Given the description of an element on the screen output the (x, y) to click on. 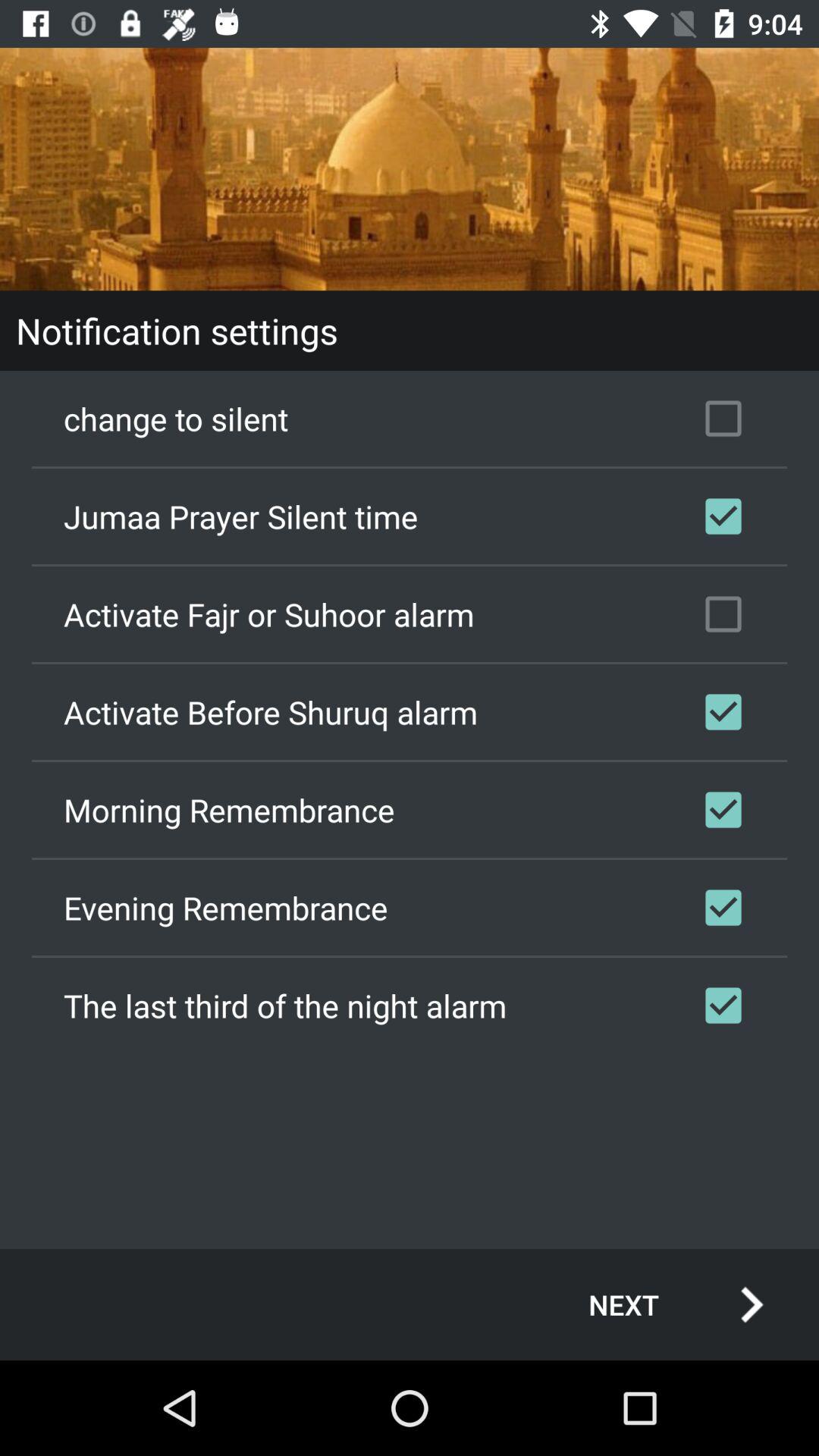
launch the last third (409, 1005)
